Given the description of an element on the screen output the (x, y) to click on. 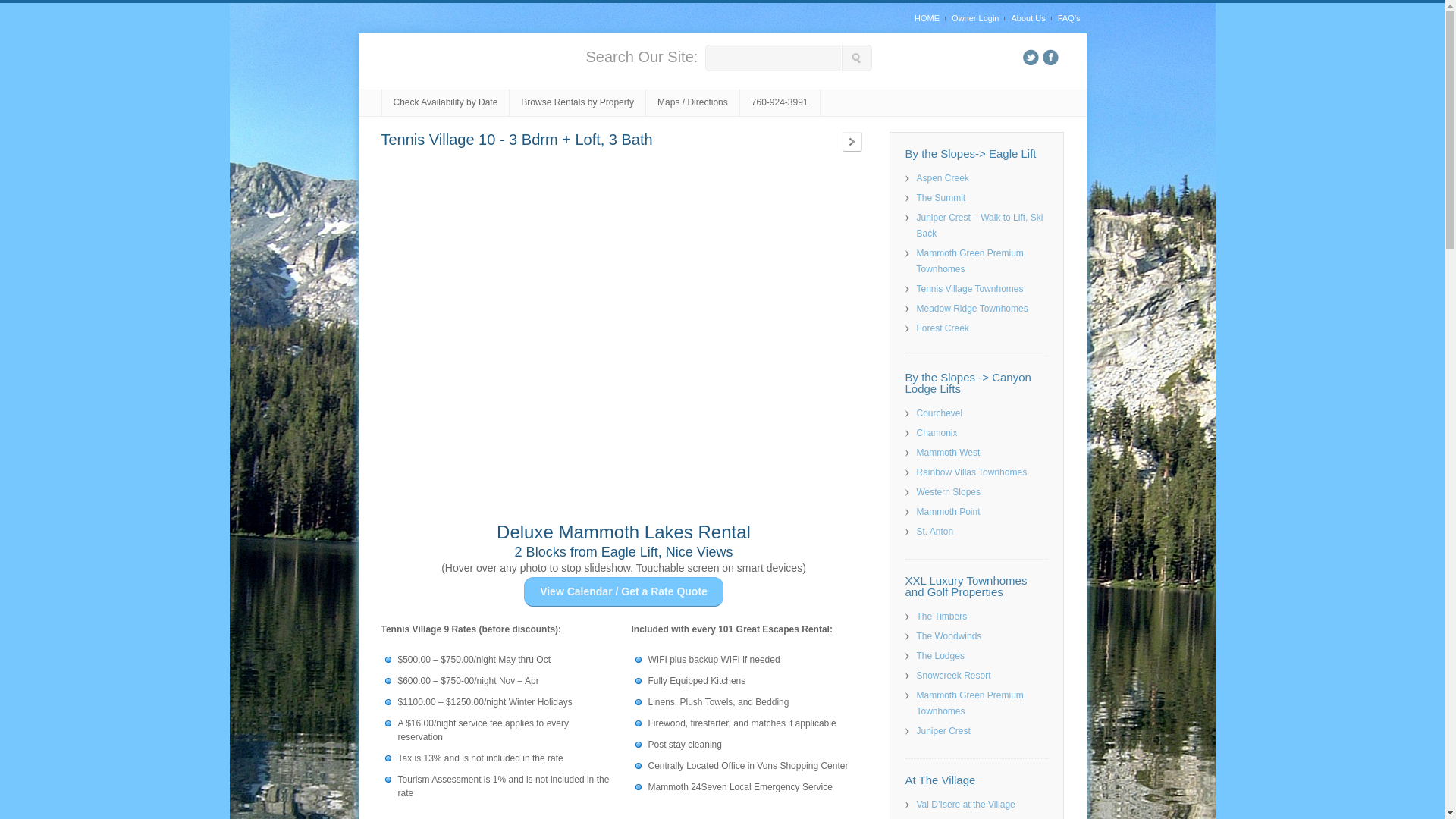
Check Availability by Date Element type: text (445, 102)
Maps / Directions Element type: text (692, 102)
Forest Creek Element type: text (942, 328)
Western Slopes Element type: text (948, 491)
St. Anton Element type: text (934, 531)
Meadow Ridge Townhomes Element type: text (971, 308)
The Timbers Element type: text (941, 616)
Mammoth Green Premium Townhomes Element type: text (969, 703)
Browse Rentals by Property Element type: text (577, 102)
Tennis Village Townhomes Element type: text (969, 288)
Tennis Village 13 - 4 Bdrm Townhome with 3 Baths Element type: hover (852, 141)
HOME Element type: text (929, 17)
About Us Element type: text (1027, 17)
Mammoth West Element type: text (947, 452)
Rainbow Villas Townhomes Element type: text (971, 472)
Aspen Creek Element type: text (942, 177)
The Lodges Element type: text (939, 655)
Mammoth Point Element type: text (947, 511)
Mammoth Green Premium Townhomes Element type: text (969, 260)
Chamonix Element type: text (936, 432)
Courchevel Element type: text (939, 412)
The Woodwinds Element type: text (948, 635)
Owner Login Element type: text (974, 17)
View Calendar / Get a Rate Quote Element type: text (623, 591)
760-924-3991 Element type: text (779, 102)
The Summit Element type: text (940, 197)
Juniper Crest Element type: text (942, 730)
Snowcreek Resort Element type: text (953, 675)
